Given the description of an element on the screen output the (x, y) to click on. 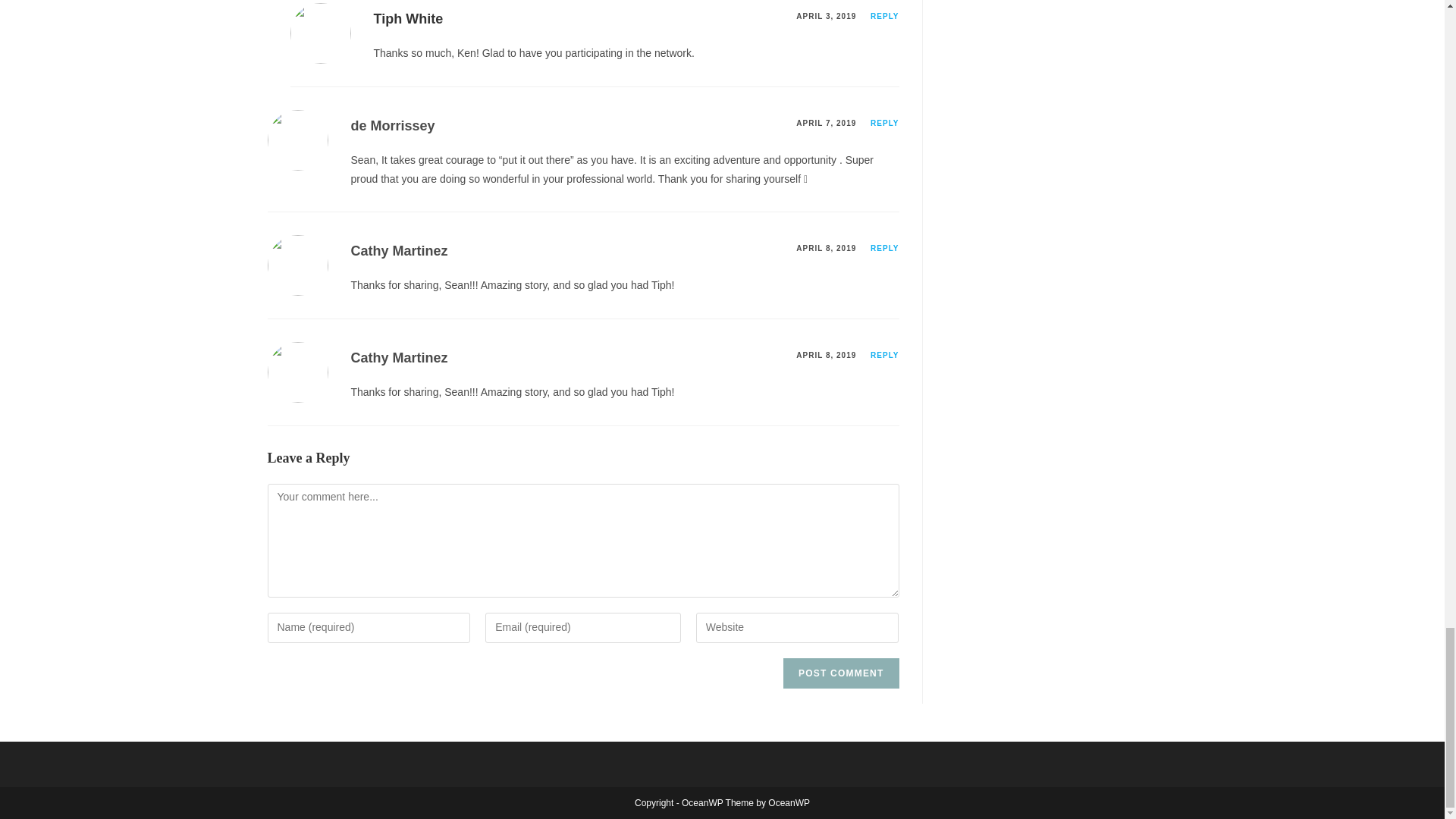
REPLY (884, 122)
Post Comment (840, 673)
REPLY (884, 16)
Post Comment (840, 673)
REPLY (884, 355)
REPLY (884, 248)
Tiph White (407, 18)
